Given the description of an element on the screen output the (x, y) to click on. 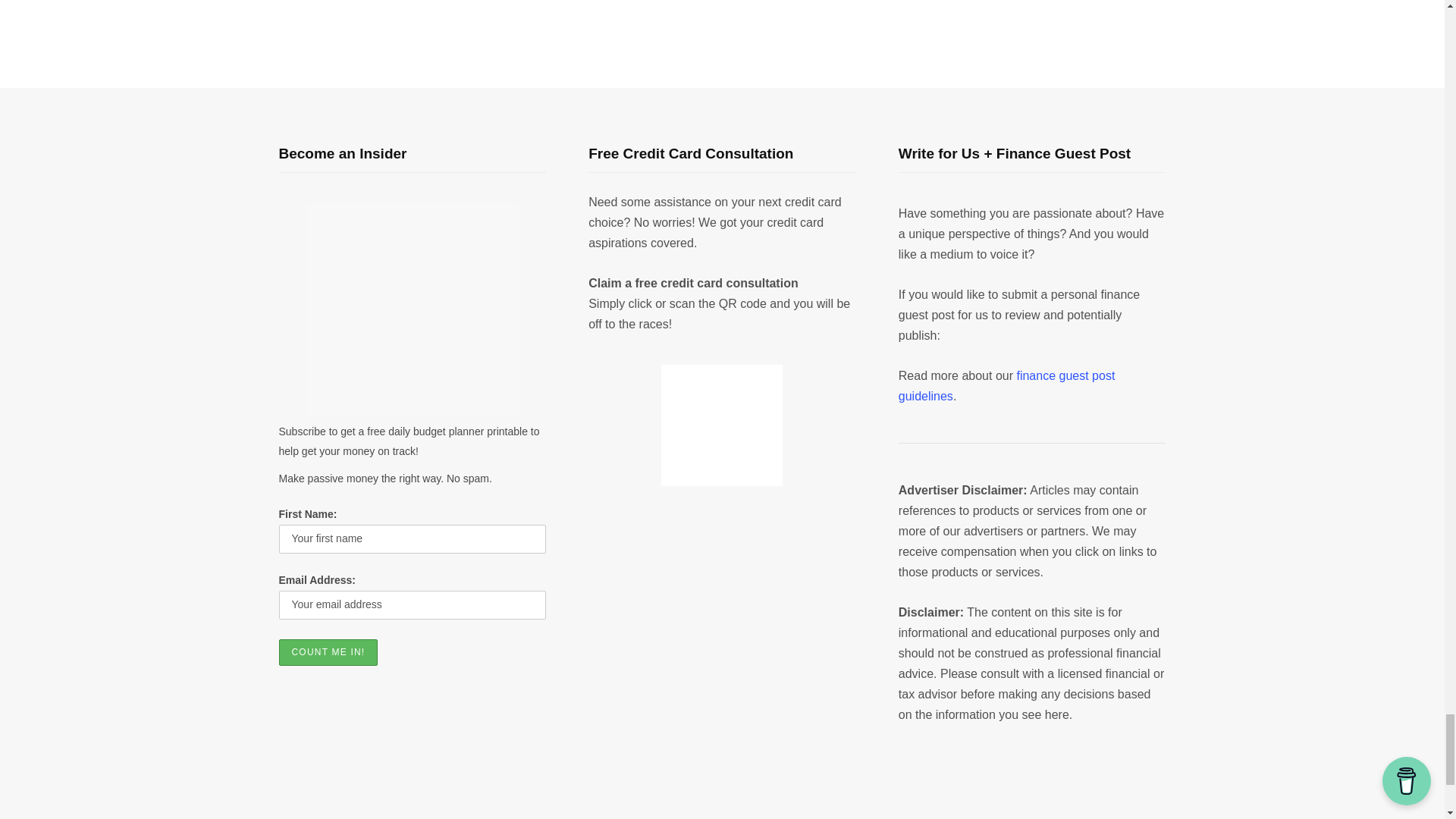
Count me in! (328, 652)
